Given the description of an element on the screen output the (x, y) to click on. 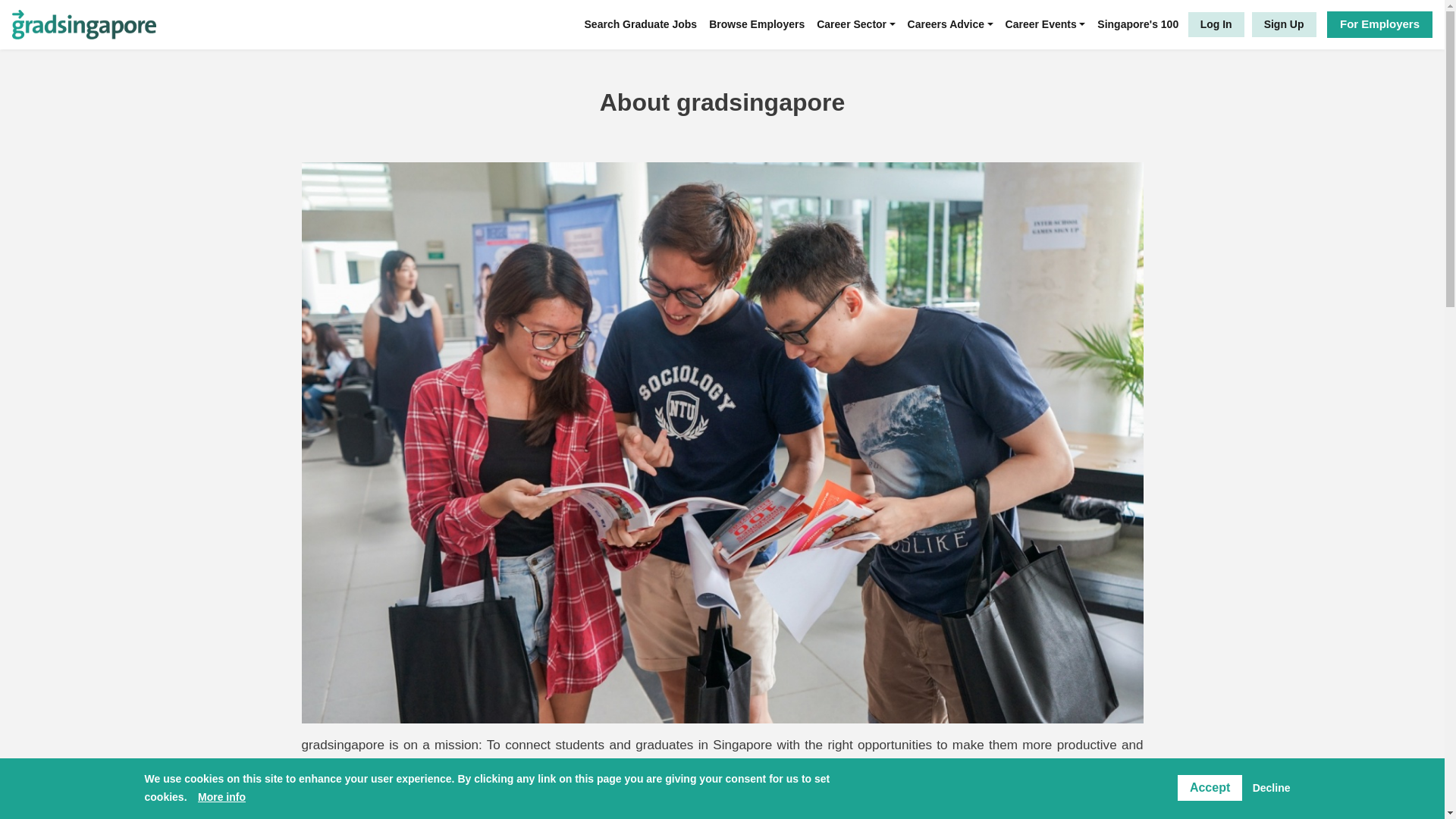
Singapore's 100 (1137, 24)
Browse Employers (756, 24)
Home (103, 24)
Search Graduate Jobs (640, 24)
Skip to main content (721, 1)
